Given the description of an element on the screen output the (x, y) to click on. 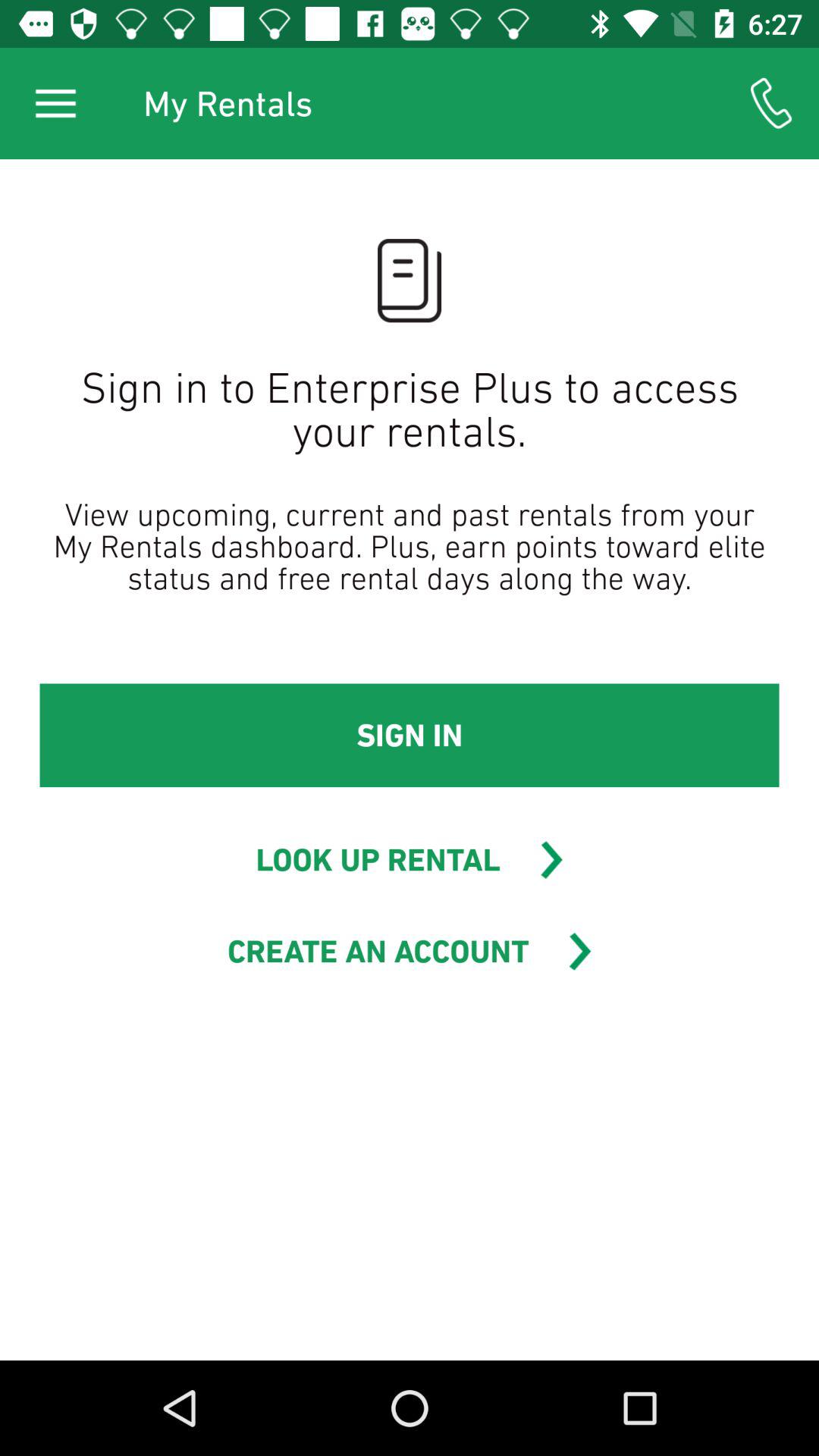
turn on icon next to my rentals item (771, 103)
